Given the description of an element on the screen output the (x, y) to click on. 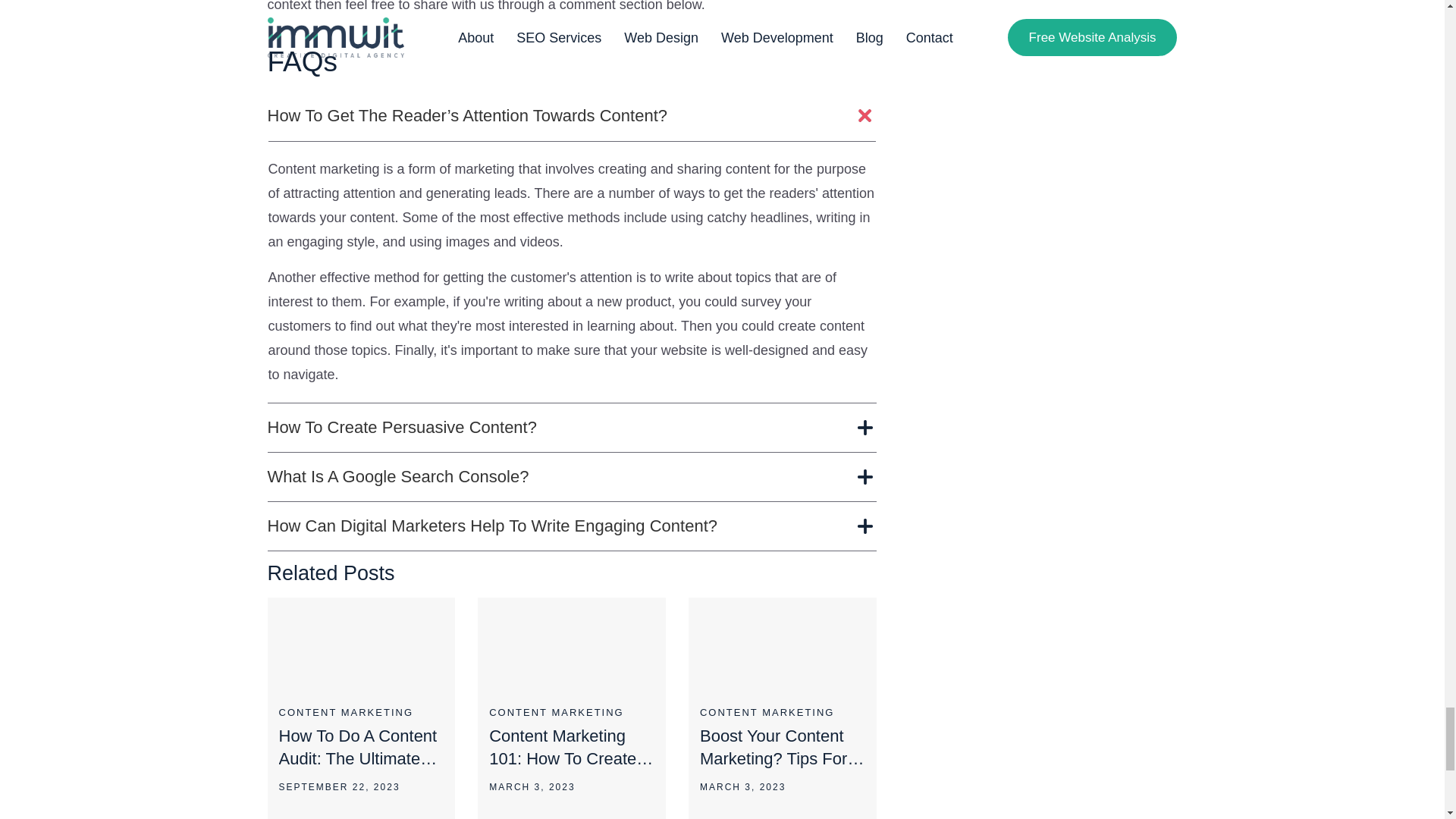
CONTENT MARKETING (361, 712)
How To Do A Content Audit: The Ultimate Checklist! (361, 748)
Boost Your Content Marketing? Tips For Building Buzz (782, 748)
CONTENT MARKETING (571, 712)
CONTENT MARKETING (782, 712)
